Given the description of an element on the screen output the (x, y) to click on. 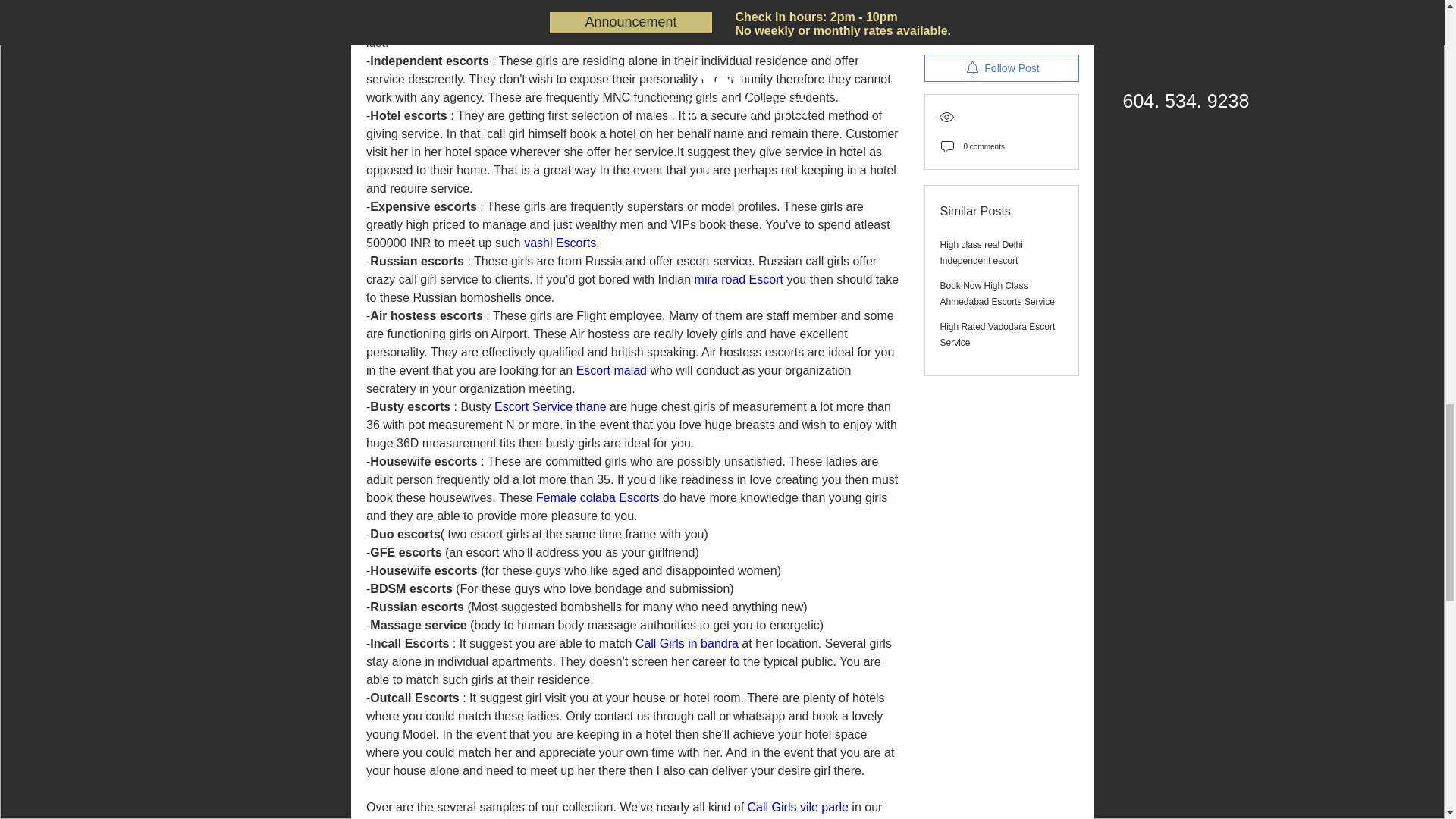
Call Girls in bandra (686, 643)
Escort Service thane (549, 406)
Escorts Andheri (762, 6)
Call Girls vile parle (796, 807)
Escort malad (610, 369)
mira road Escort (738, 278)
vashi Escorts (559, 242)
Female colaba Escorts (597, 497)
